Given the description of an element on the screen output the (x, y) to click on. 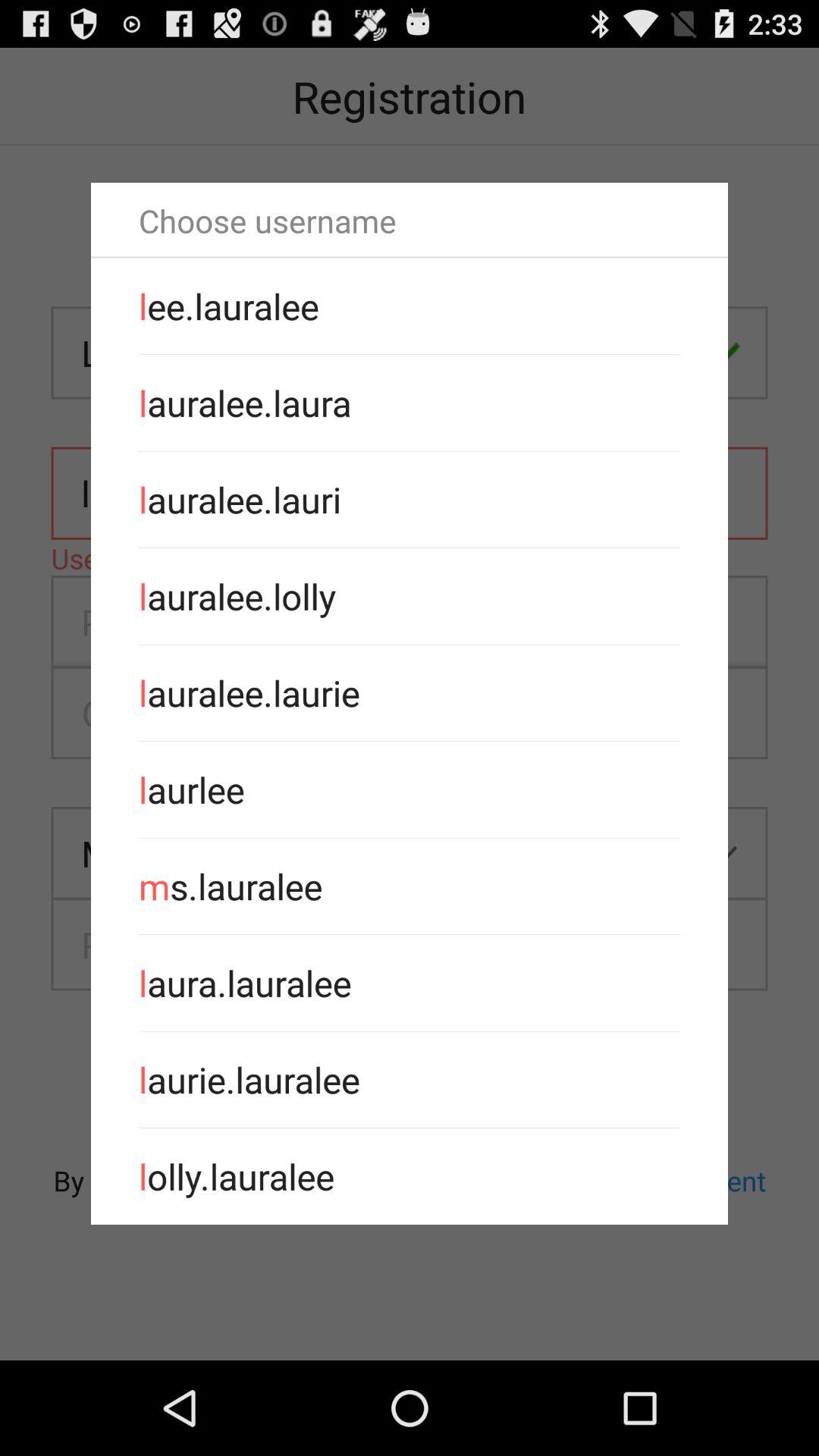
press the app below lauralee.laurie icon (409, 789)
